Given the description of an element on the screen output the (x, y) to click on. 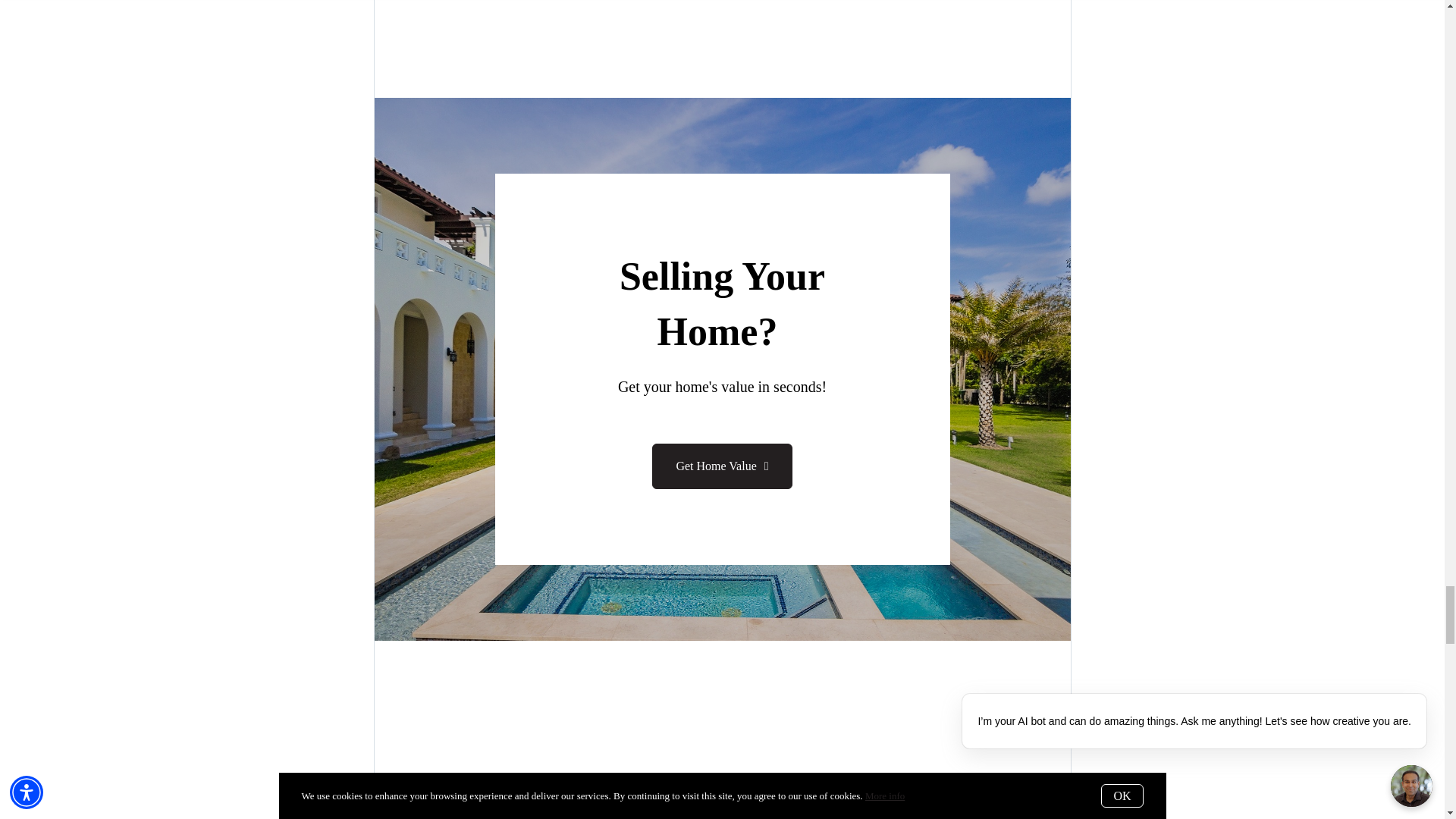
Home Value (722, 465)
Get Home Value (722, 465)
